Given the description of an element on the screen output the (x, y) to click on. 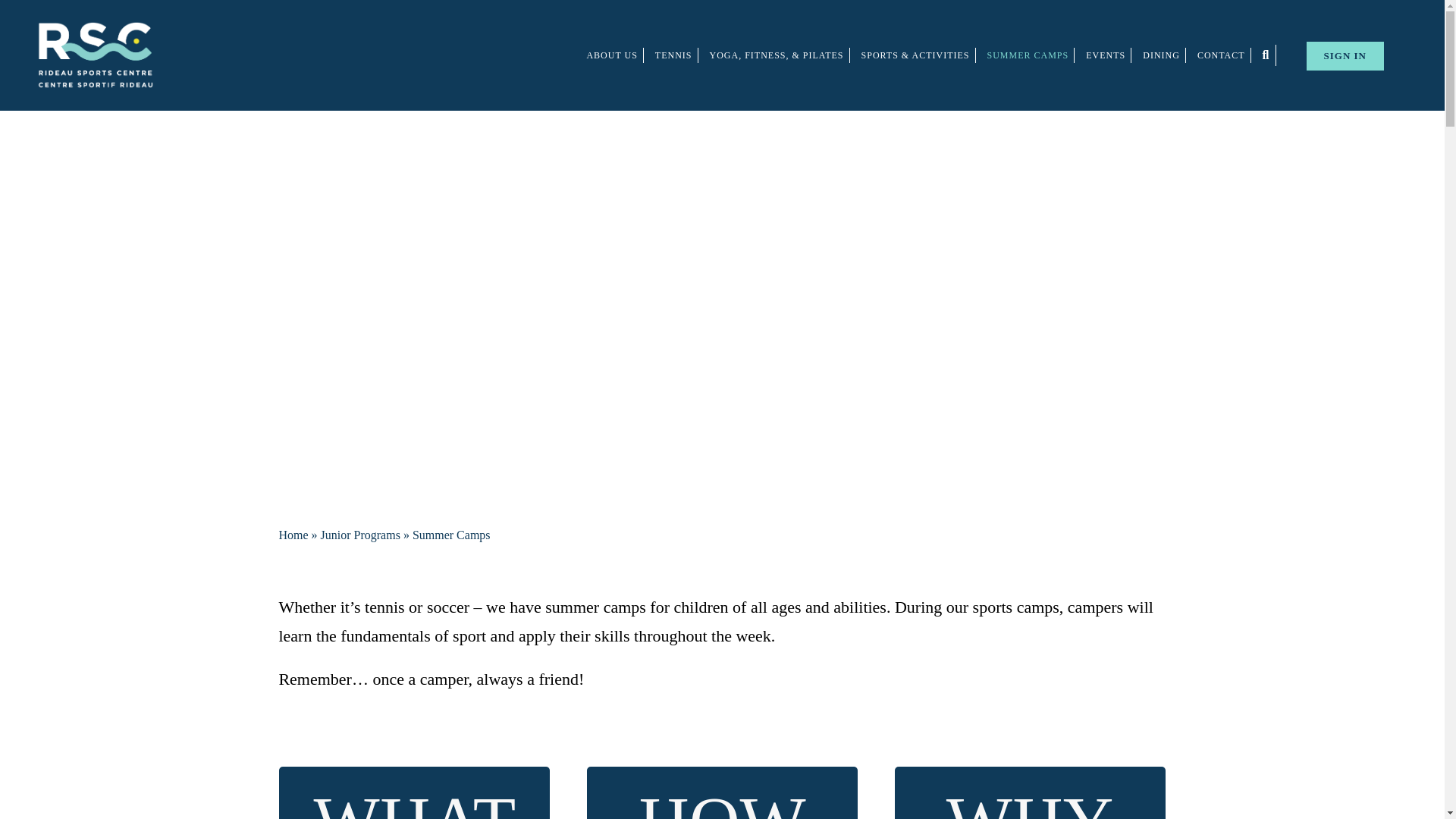
TENNIS (676, 55)
YELLOW (353, 274)
ABOUT US (614, 55)
